Given the description of an element on the screen output the (x, y) to click on. 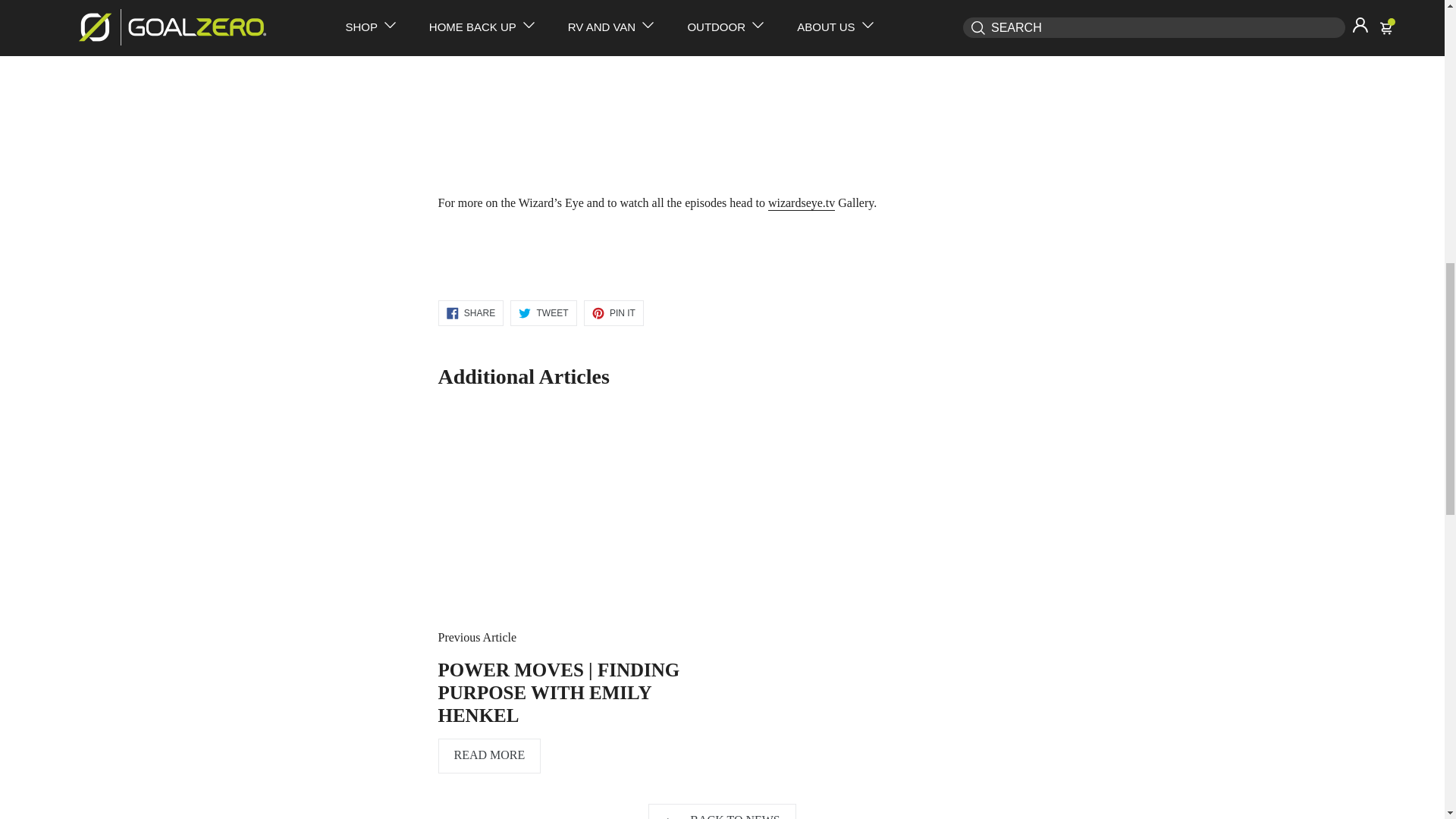
Pin on Pinterest (613, 312)
Tweet on Twitter (543, 312)
Share on Facebook (470, 312)
